Given the description of an element on the screen output the (x, y) to click on. 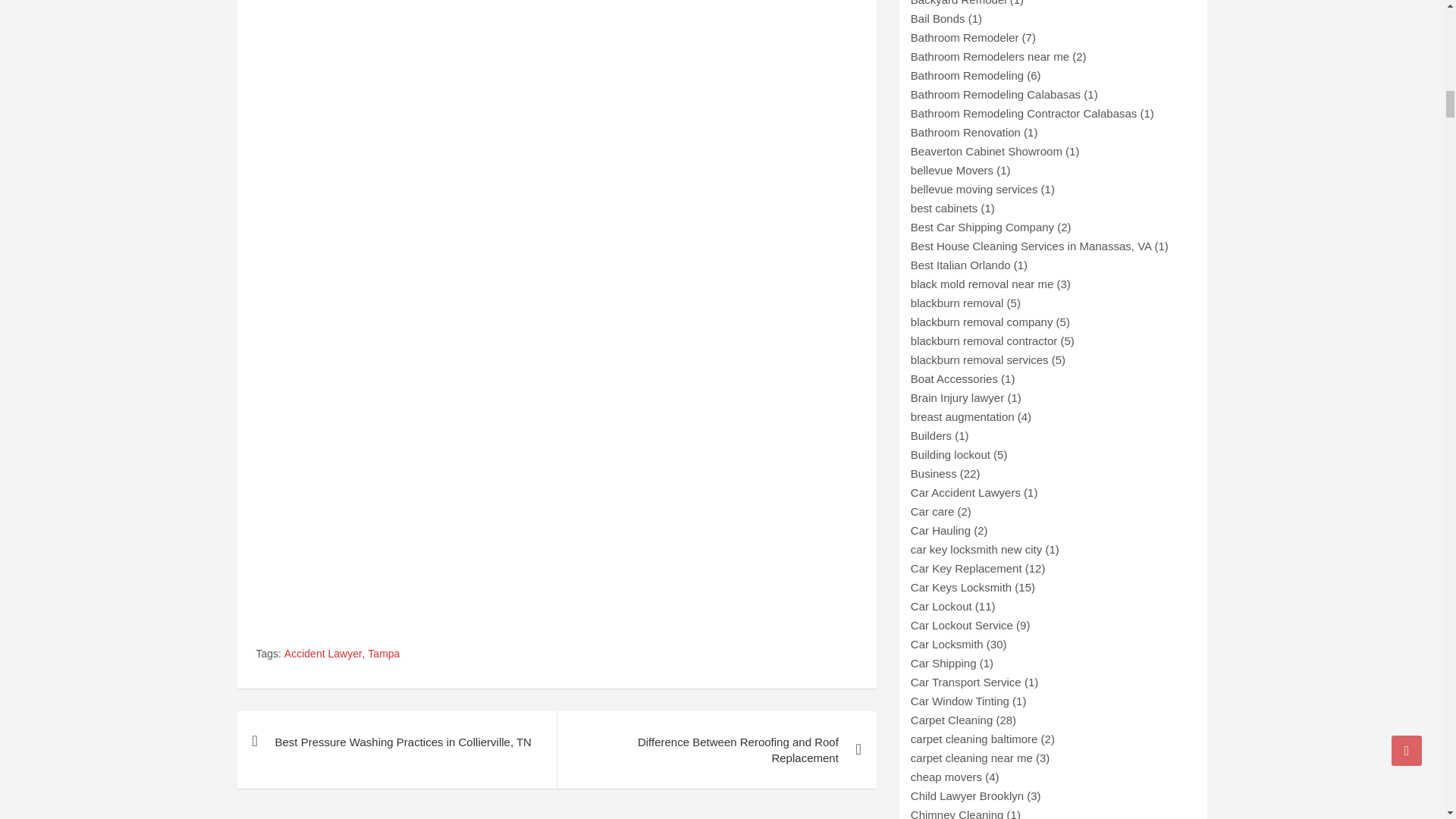
Accident Lawyer (322, 654)
Tampa (383, 654)
Best Pressure Washing Practices in Collierville, TN (395, 742)
Difference Between Reroofing and Roof Replacement (716, 749)
